Given the description of an element on the screen output the (x, y) to click on. 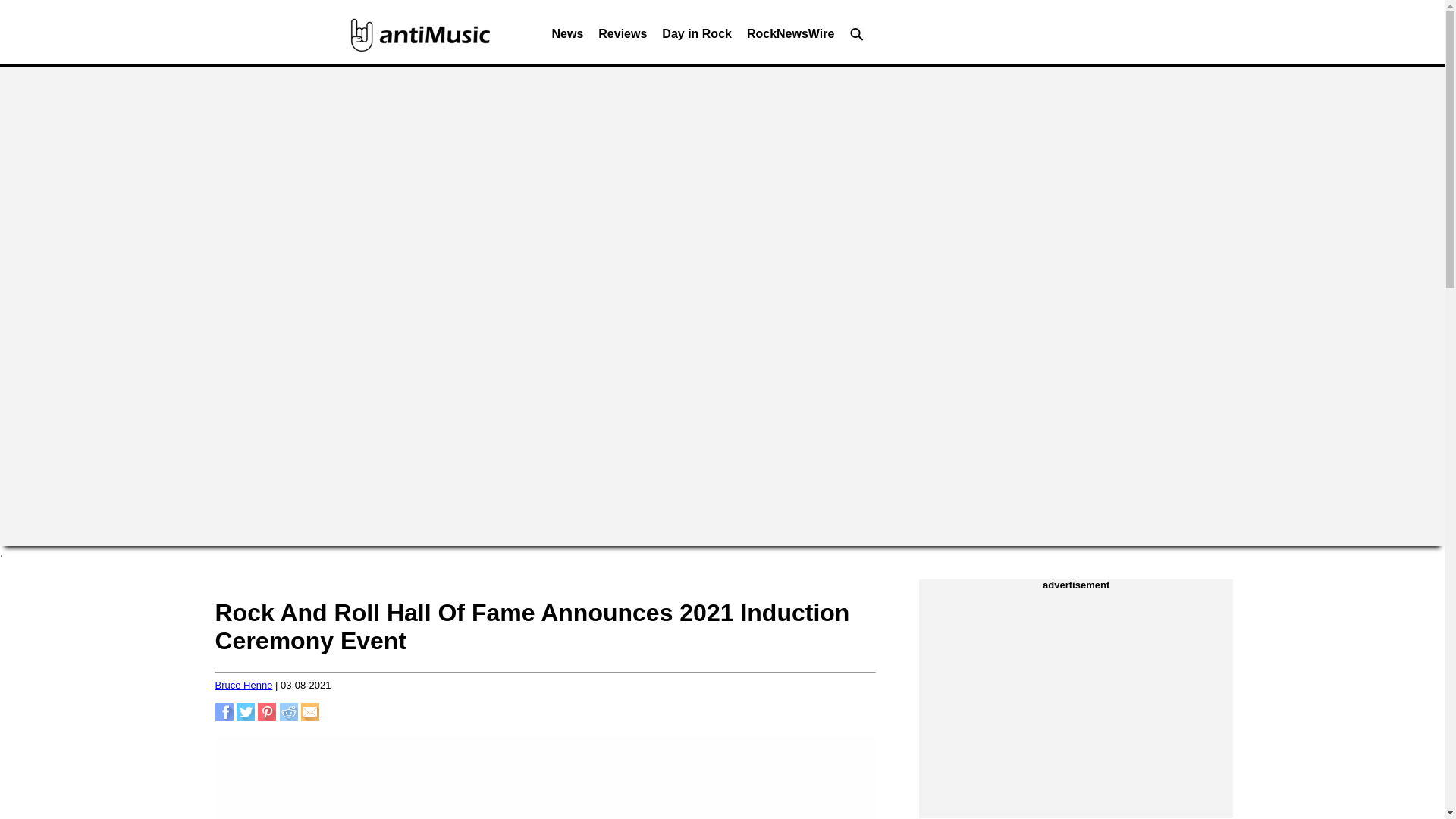
Share on Facebook (223, 716)
Bruce Henne (244, 685)
Pin it (266, 716)
Share on Reddit (288, 716)
Tweet (244, 716)
Send email (309, 716)
News (567, 38)
RockNewsWire (790, 38)
Reviews (622, 38)
